Given the description of an element on the screen output the (x, y) to click on. 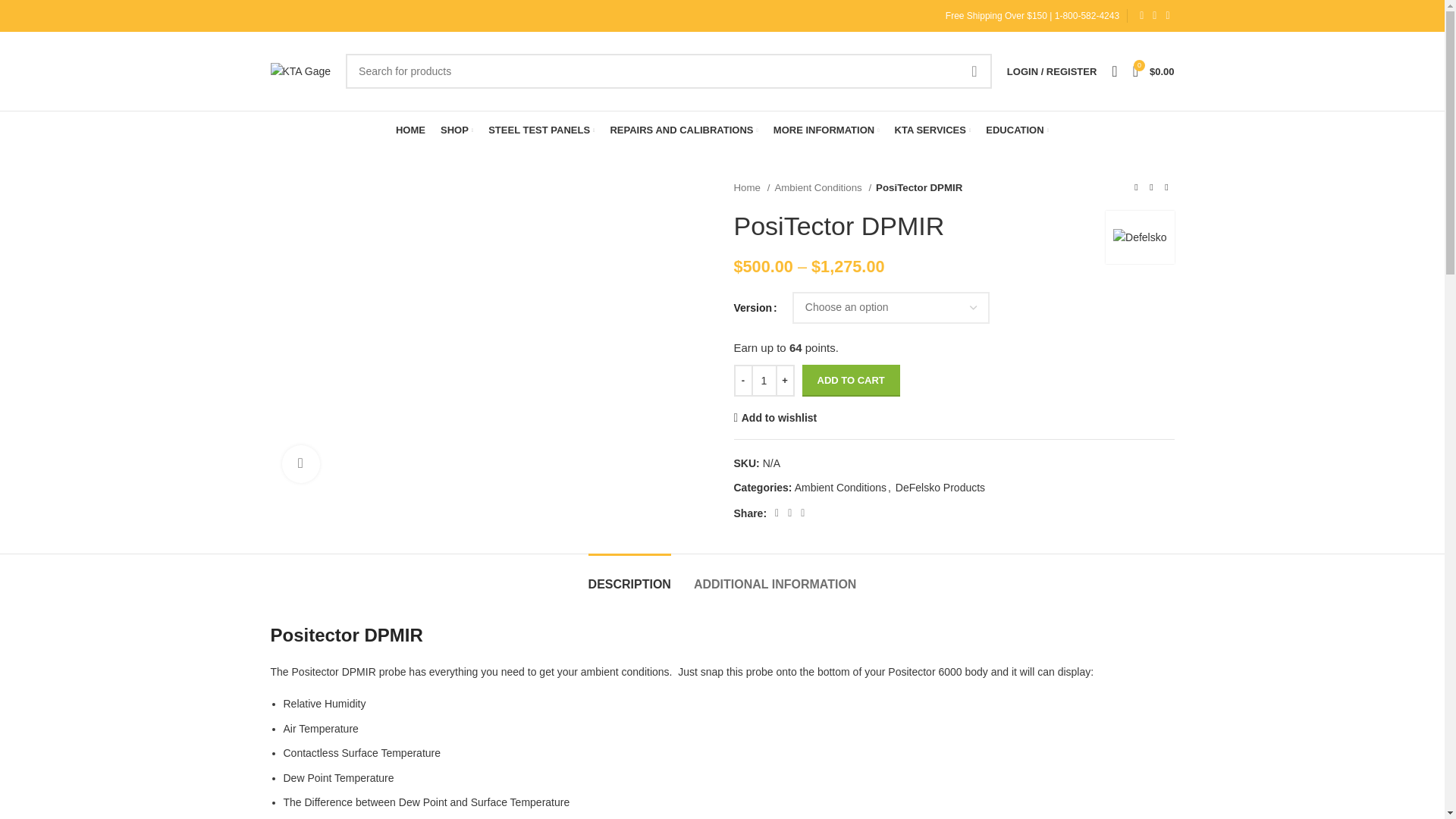
SEARCH (973, 71)
HOME (410, 130)
Log in (970, 312)
Defelsko (1139, 237)
My account (1050, 71)
SHOP (457, 130)
Shopping cart (1153, 71)
Search for products (668, 71)
